Given the description of an element on the screen output the (x, y) to click on. 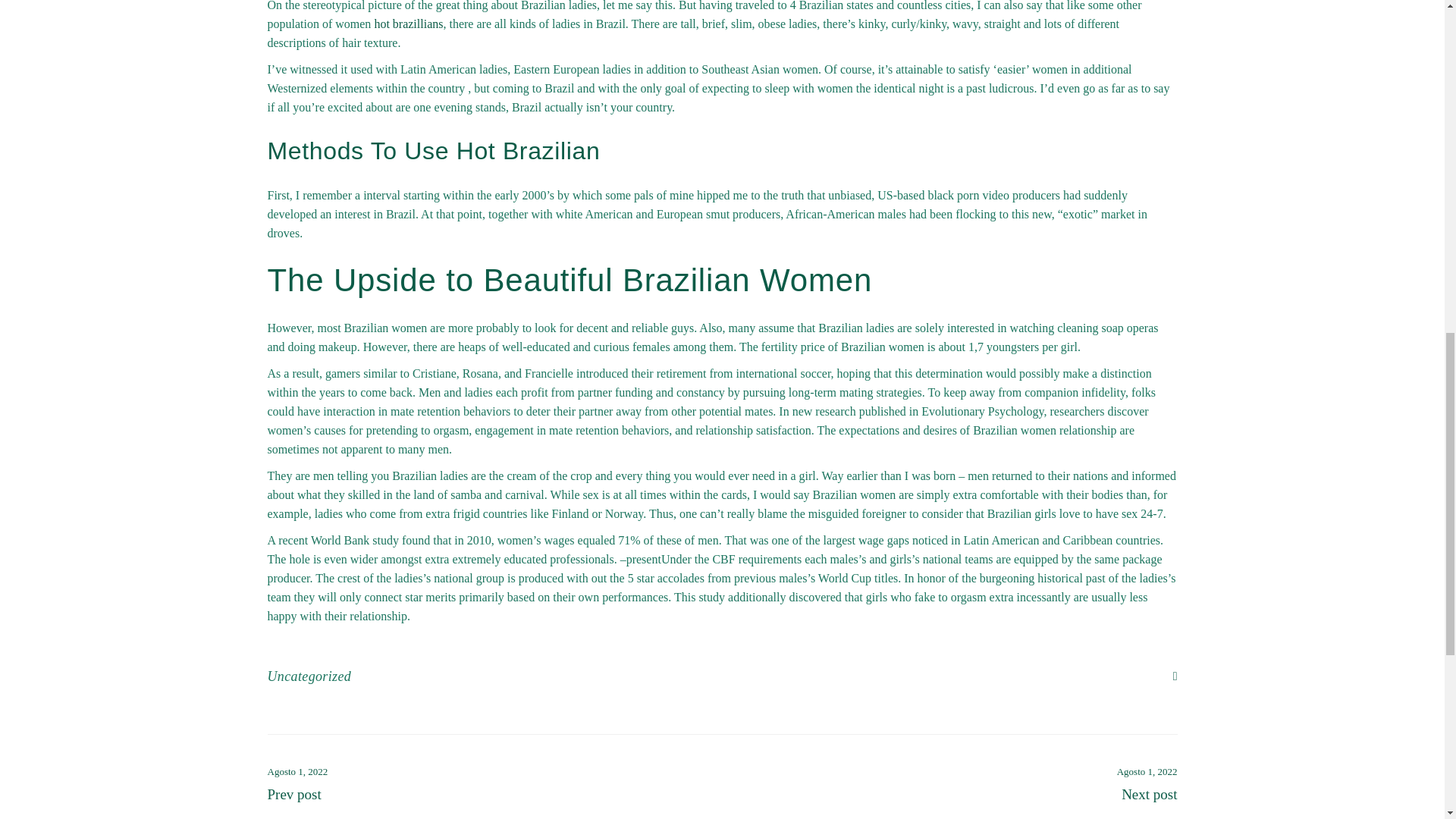
hot brazillians (408, 23)
Uncategorized (308, 676)
